Given the description of an element on the screen output the (x, y) to click on. 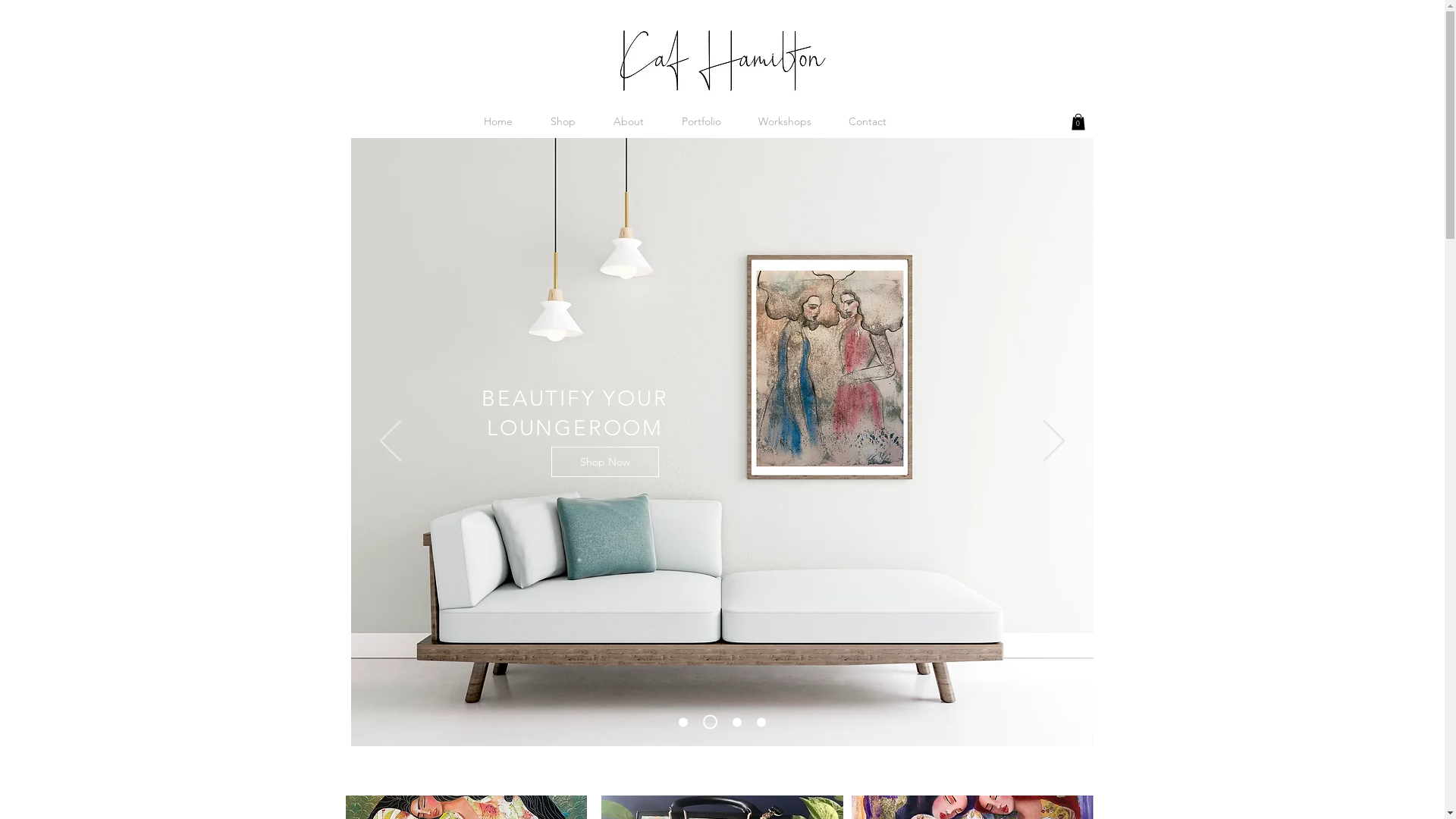
Shop Element type: text (561, 121)
About Element type: text (628, 121)
Portfolio Element type: text (701, 121)
Shop Now Element type: text (604, 461)
0 Element type: text (1077, 121)
Contact Element type: text (866, 121)
Shop Now Element type: text (717, 297)
Home Element type: text (497, 121)
Workshops Element type: text (785, 121)
